Given the description of an element on the screen output the (x, y) to click on. 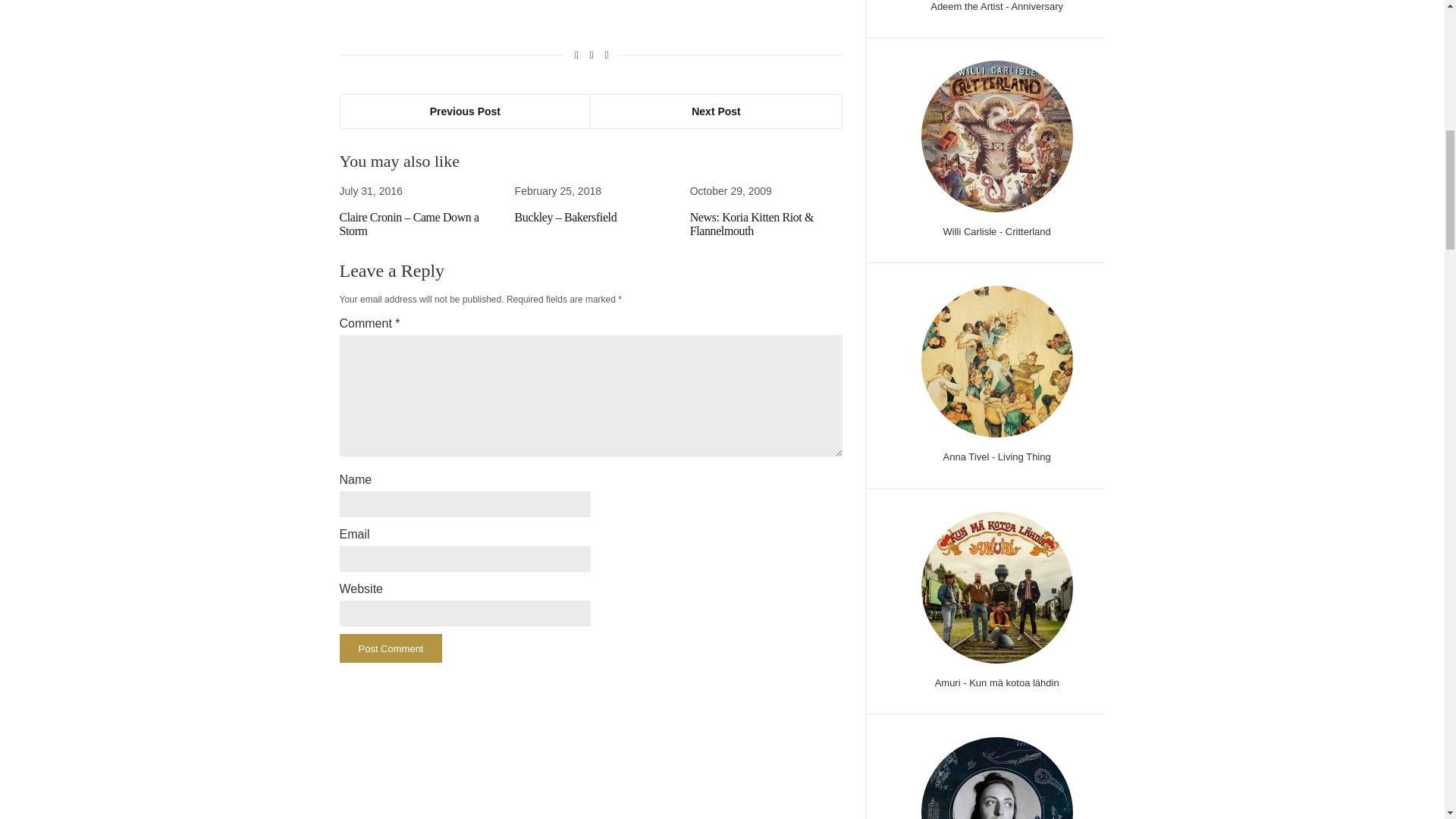
Next Post (716, 110)
Post Comment (390, 647)
Post Comment (390, 647)
Previous Post (465, 110)
